Given the description of an element on the screen output the (x, y) to click on. 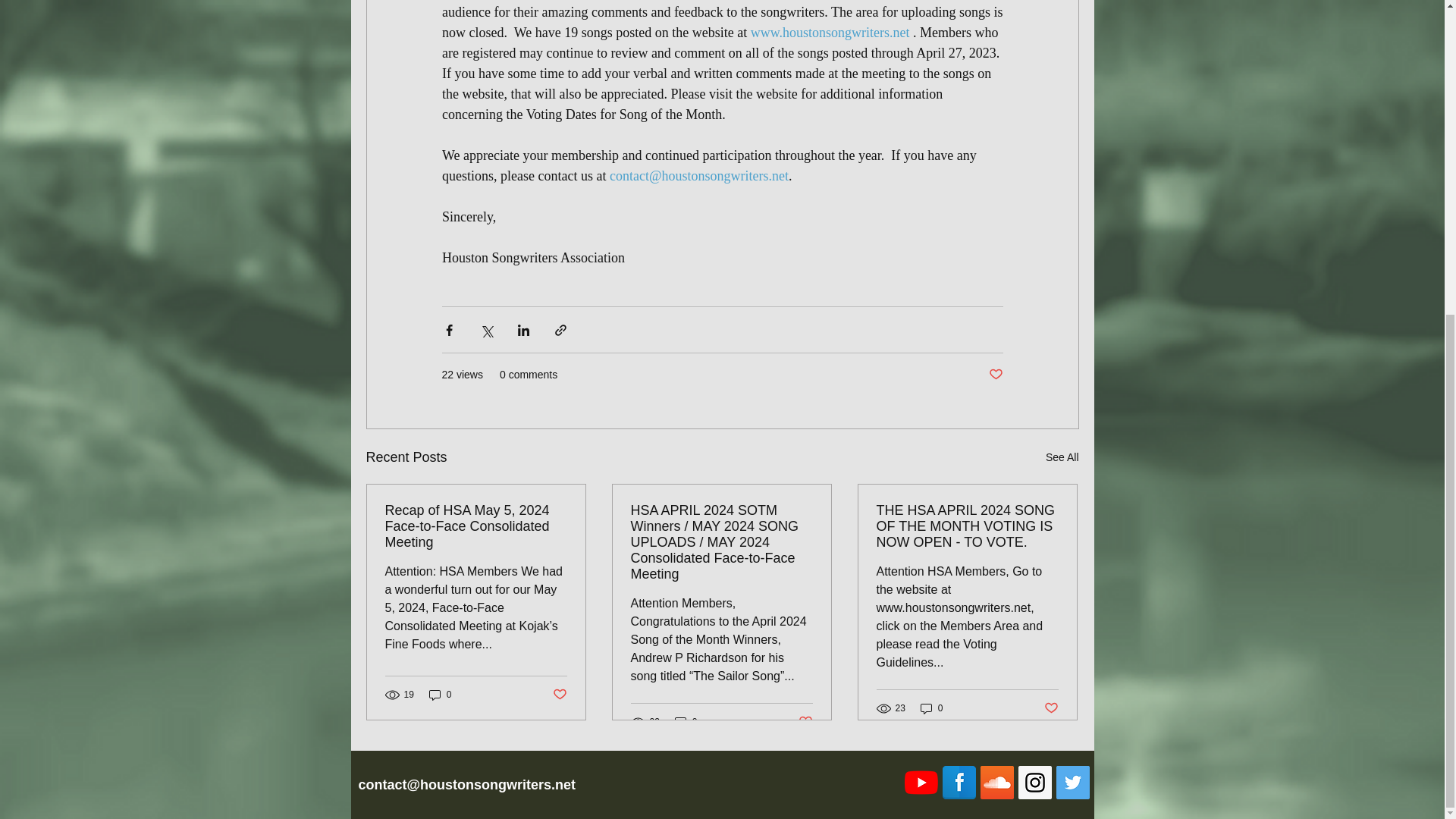
See All (1061, 457)
www.houstonsongwriters.net (828, 32)
Post not marked as liked (1050, 707)
Post not marked as liked (558, 693)
0 (685, 721)
Recap of HSA May 5, 2024 Face-to-Face Consolidated Meeting (476, 526)
Post not marked as liked (995, 374)
Post not marked as liked (804, 721)
0 (440, 694)
